Given the description of an element on the screen output the (x, y) to click on. 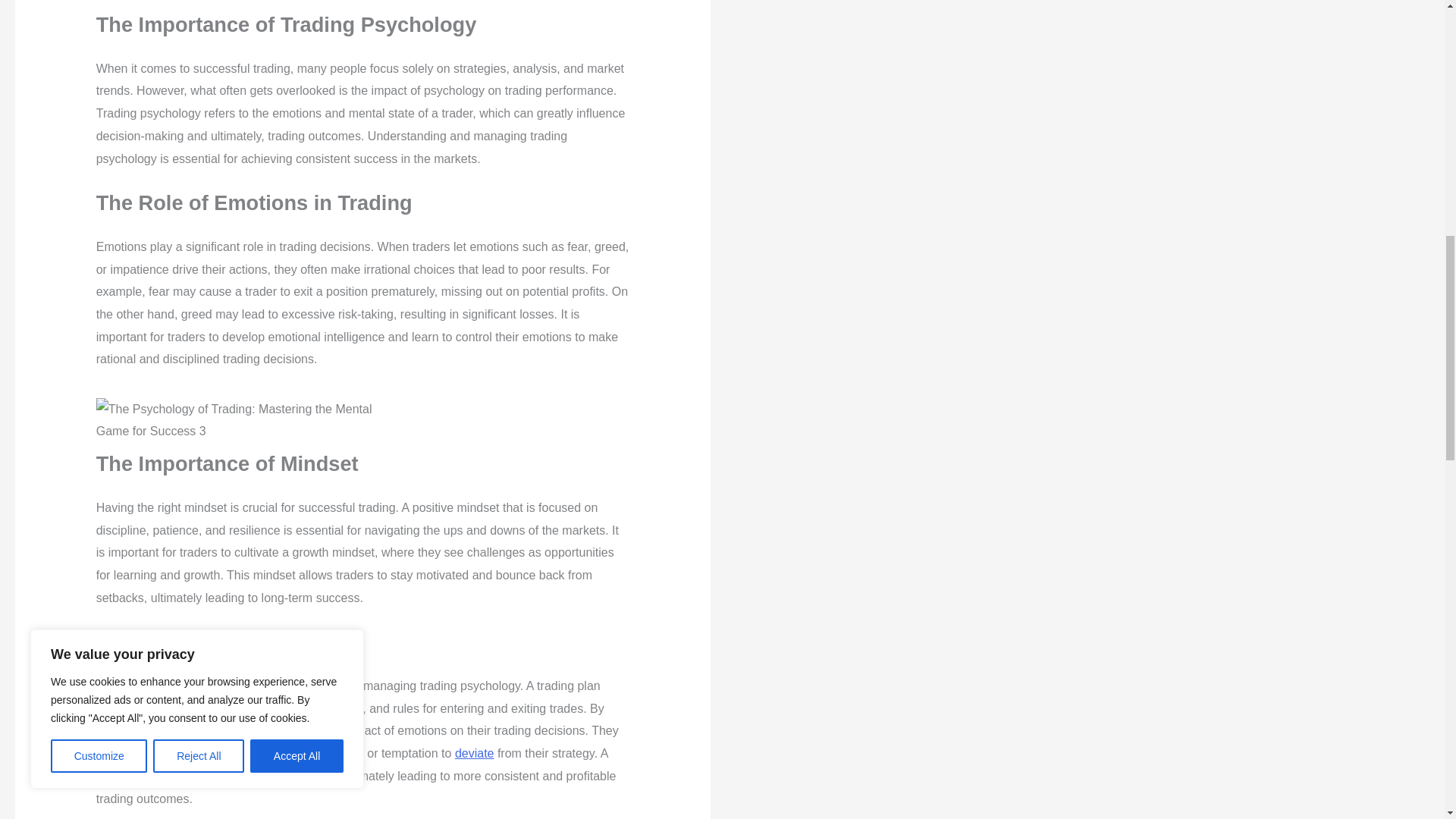
deviate (474, 753)
